Given the description of an element on the screen output the (x, y) to click on. 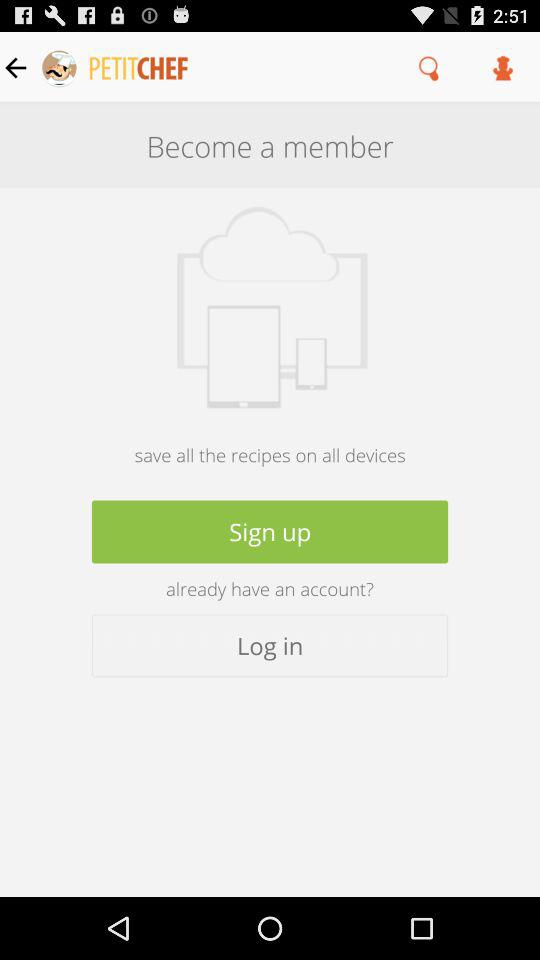
scroll until the log in item (269, 645)
